Given the description of an element on the screen output the (x, y) to click on. 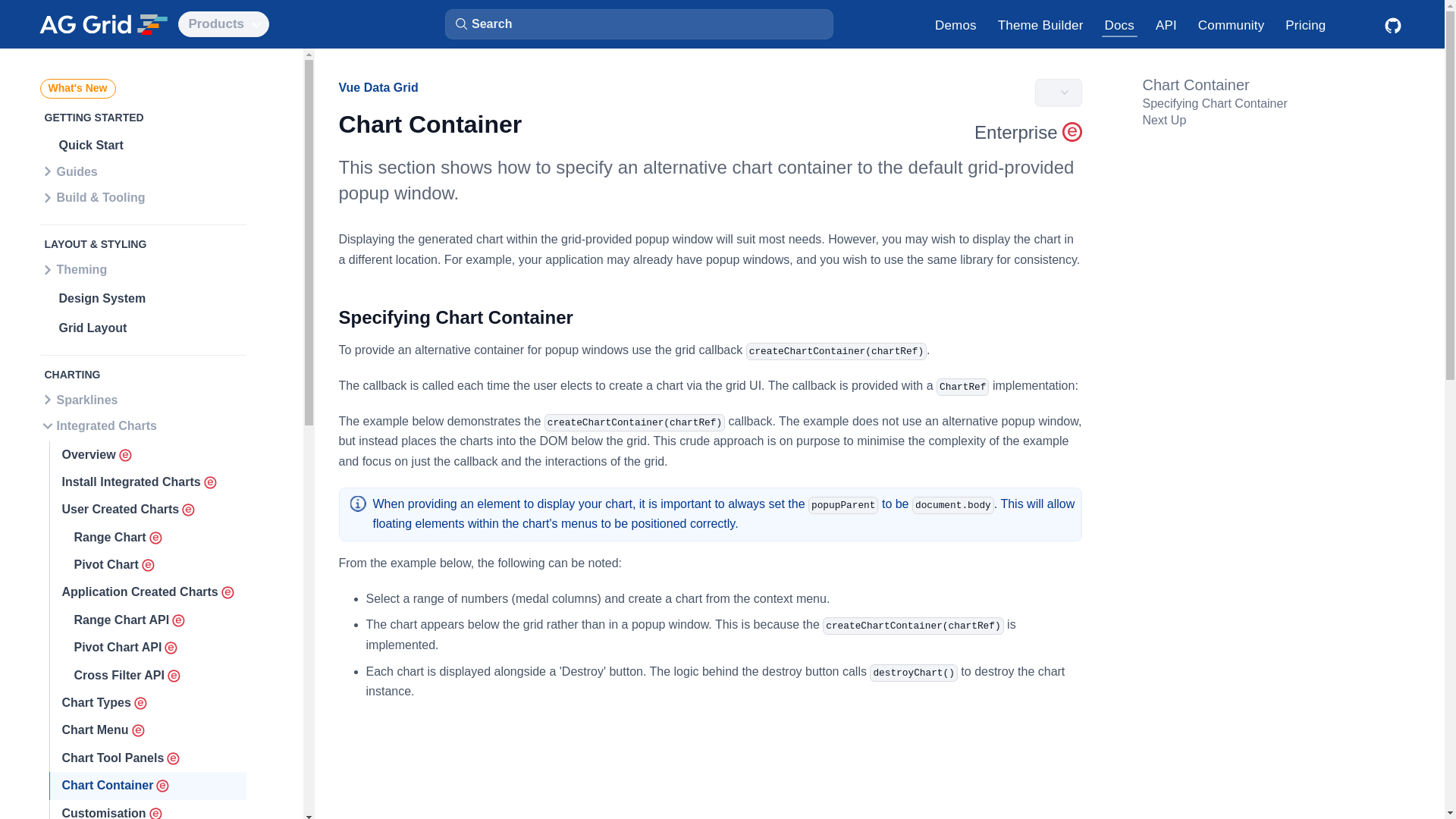
Theme Builder (1040, 24)
Quick Start (147, 145)
Pricing (1305, 24)
Demos (955, 24)
API (1166, 24)
Products (223, 23)
Community (1231, 24)
Docs (1118, 24)
Guides (142, 173)
Theming (142, 271)
What's New (77, 88)
